Given the description of an element on the screen output the (x, y) to click on. 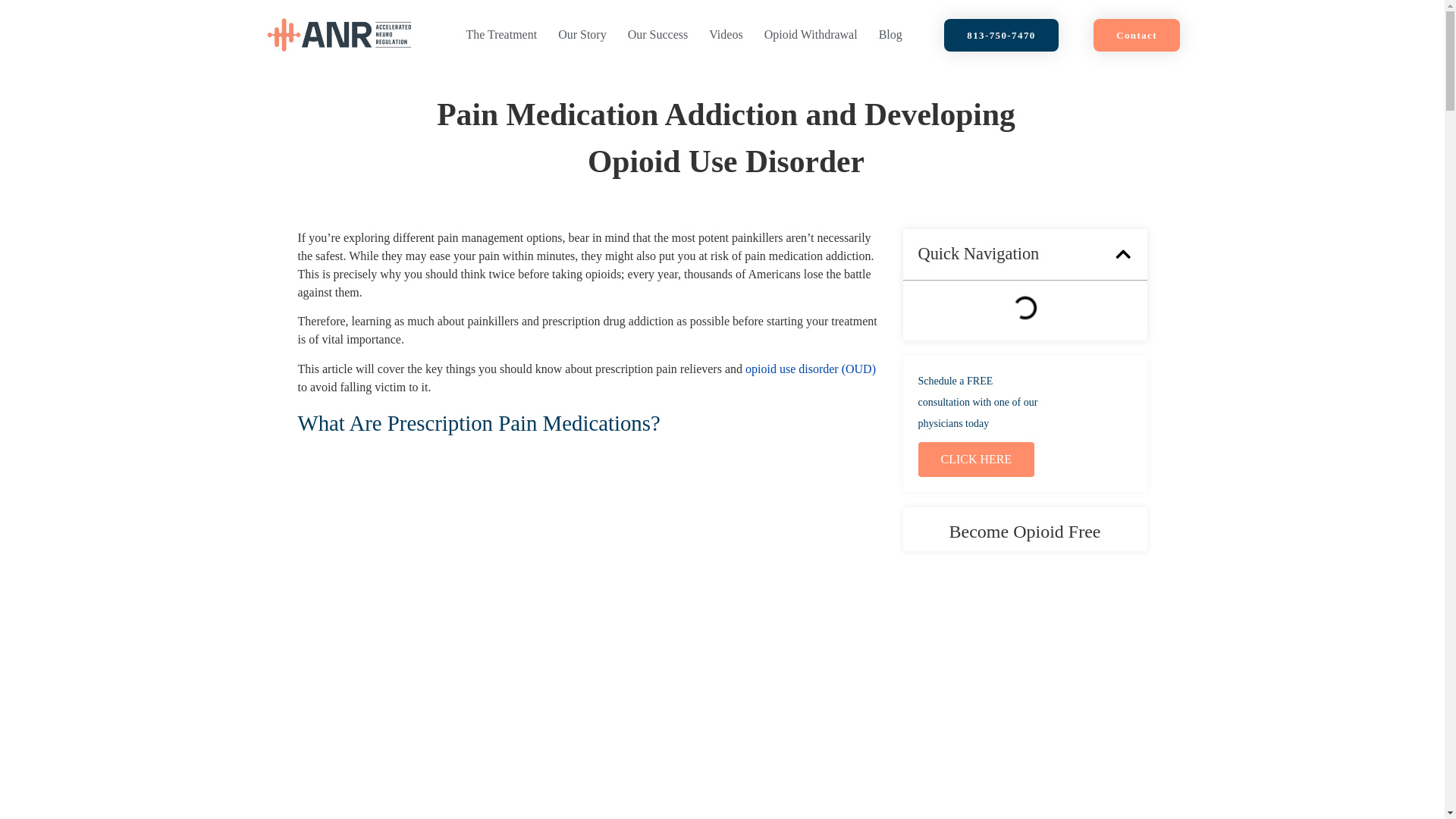
Our Story (581, 34)
The Treatment (500, 34)
Opioid Withdrawal (810, 34)
Our Success (658, 34)
